Given the description of an element on the screen output the (x, y) to click on. 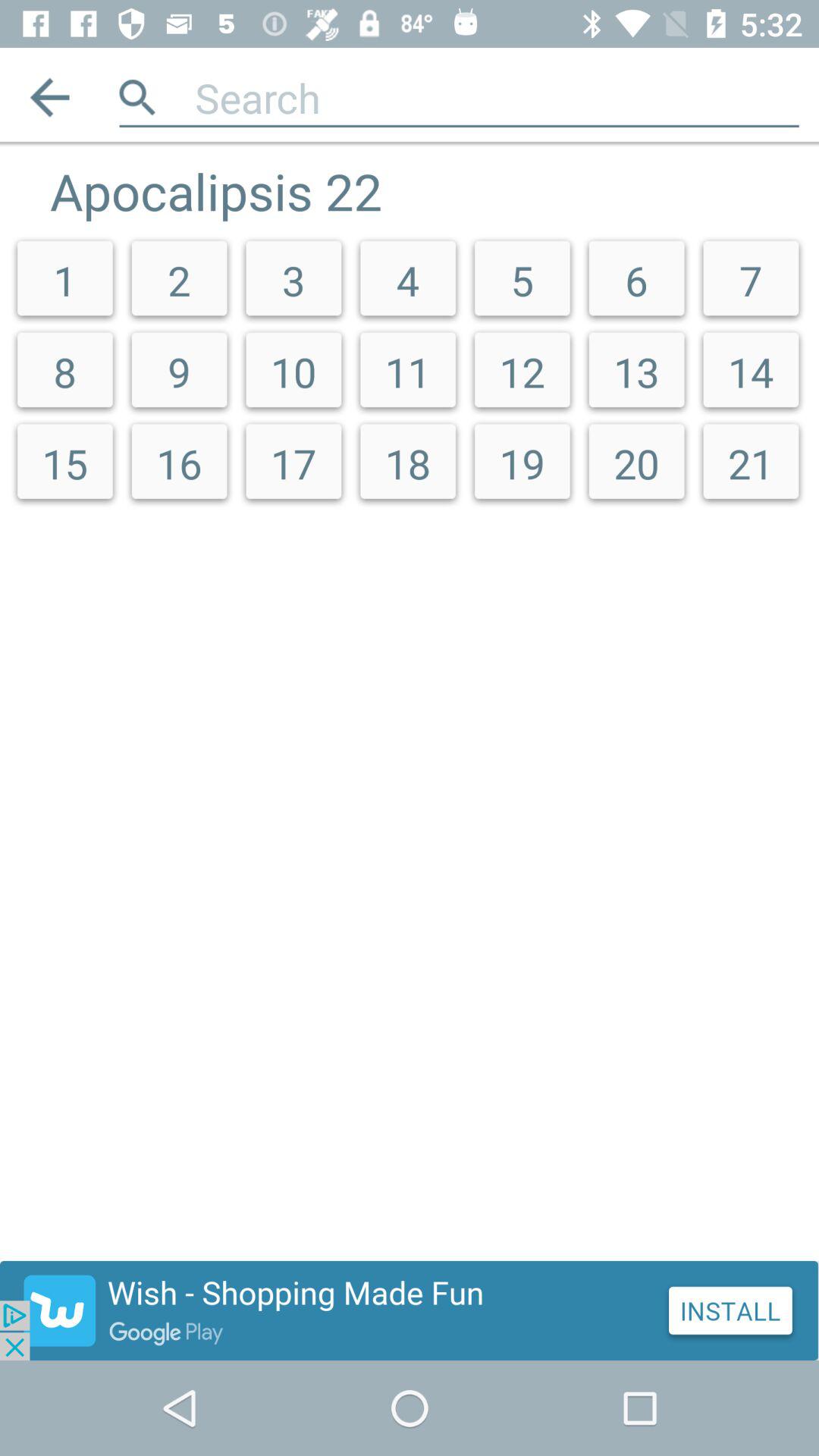
select the search icon which is on top (137, 97)
